Given the description of an element on the screen output the (x, y) to click on. 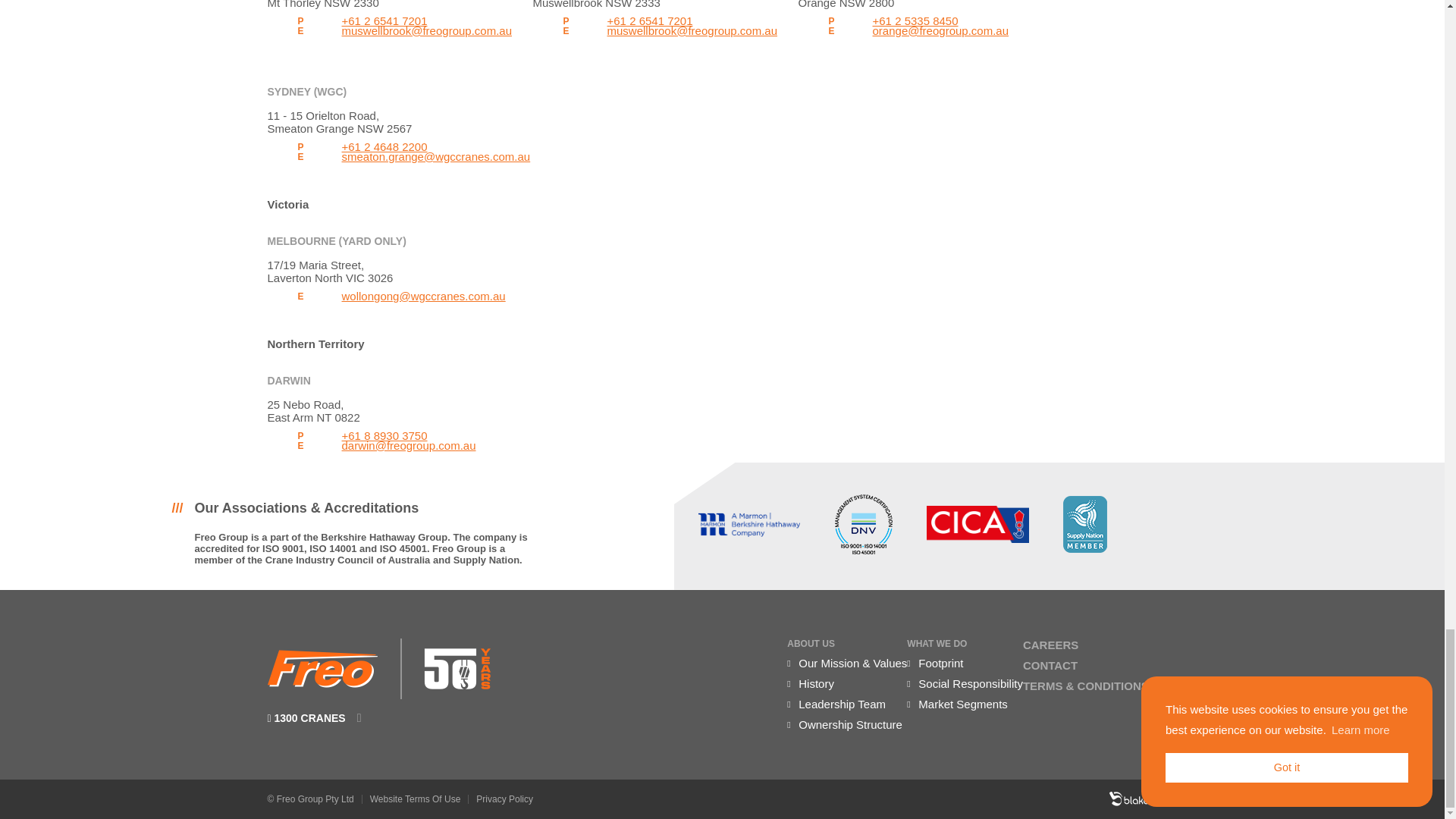
Blake Digital (1142, 798)
